Given the description of an element on the screen output the (x, y) to click on. 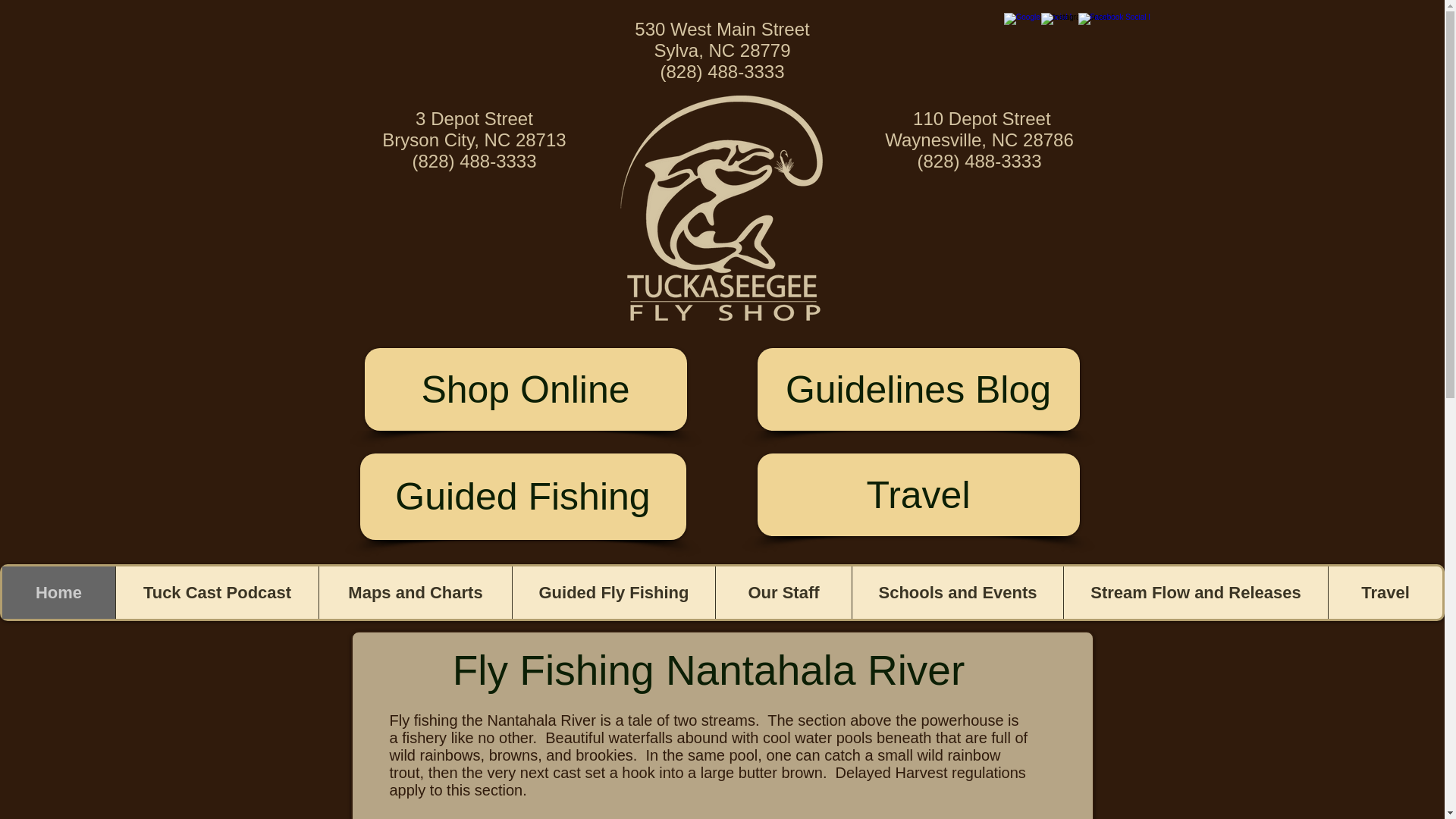
TuckFlyLogo.png (722, 208)
Stream Flow and Releases (1194, 592)
Maps and Charts (415, 592)
Guided Fishing (522, 496)
Travel (1384, 592)
Guided Fly Fishing (613, 592)
Schools and Events (956, 592)
Tuck Cast Podcast (216, 592)
Guidelines Blog (917, 389)
Home (58, 592)
